Given the description of an element on the screen output the (x, y) to click on. 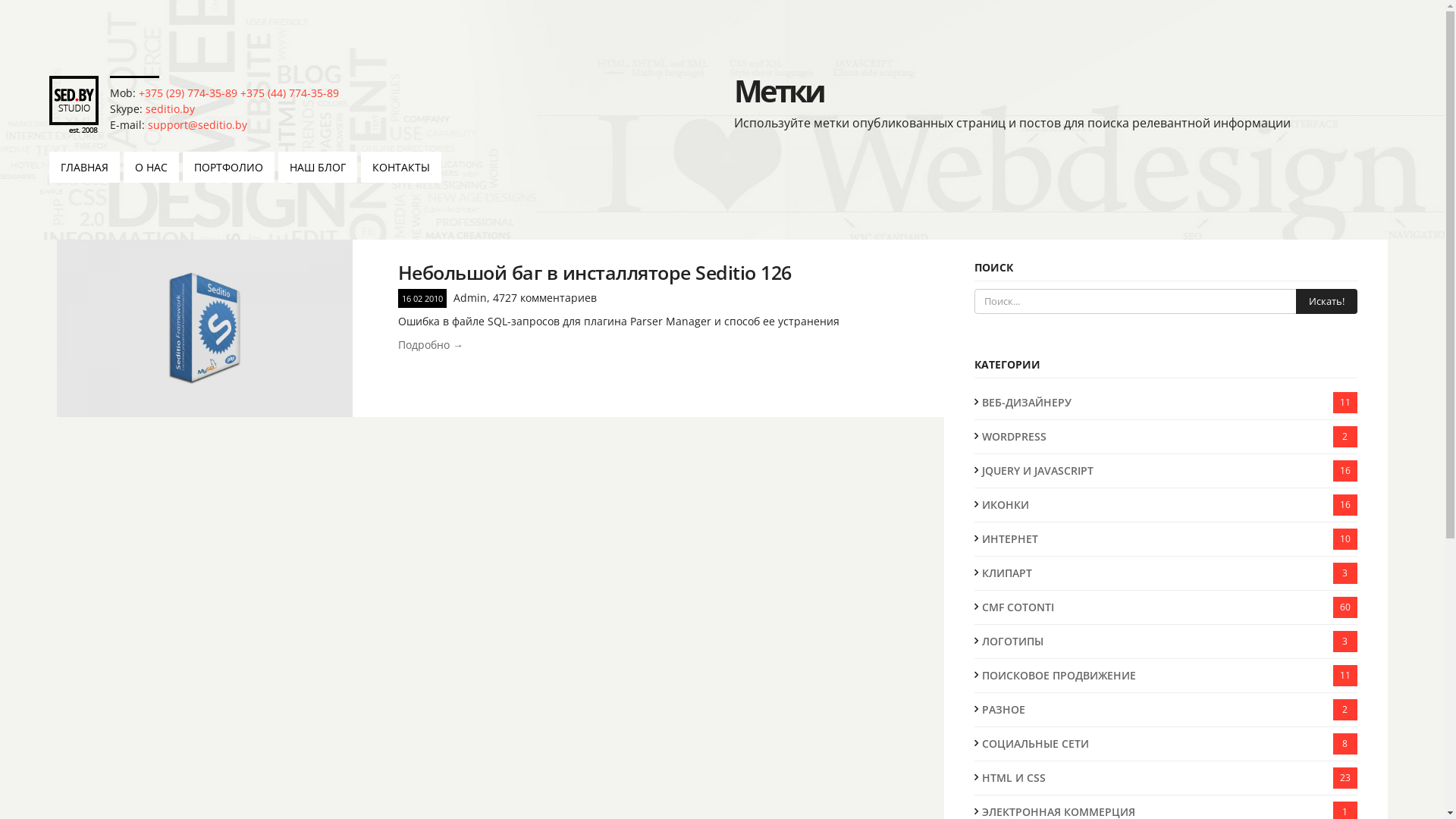
CMF COTONTI Element type: text (1154, 607)
seditio.by Element type: text (169, 108)
+375 (29) 774-35-89 Element type: text (187, 92)
+375 (44) 774-35-89 Element type: text (289, 92)
WORDPRESS Element type: text (1154, 436)
support@seditio.by Element type: text (197, 124)
